Given the description of an element on the screen output the (x, y) to click on. 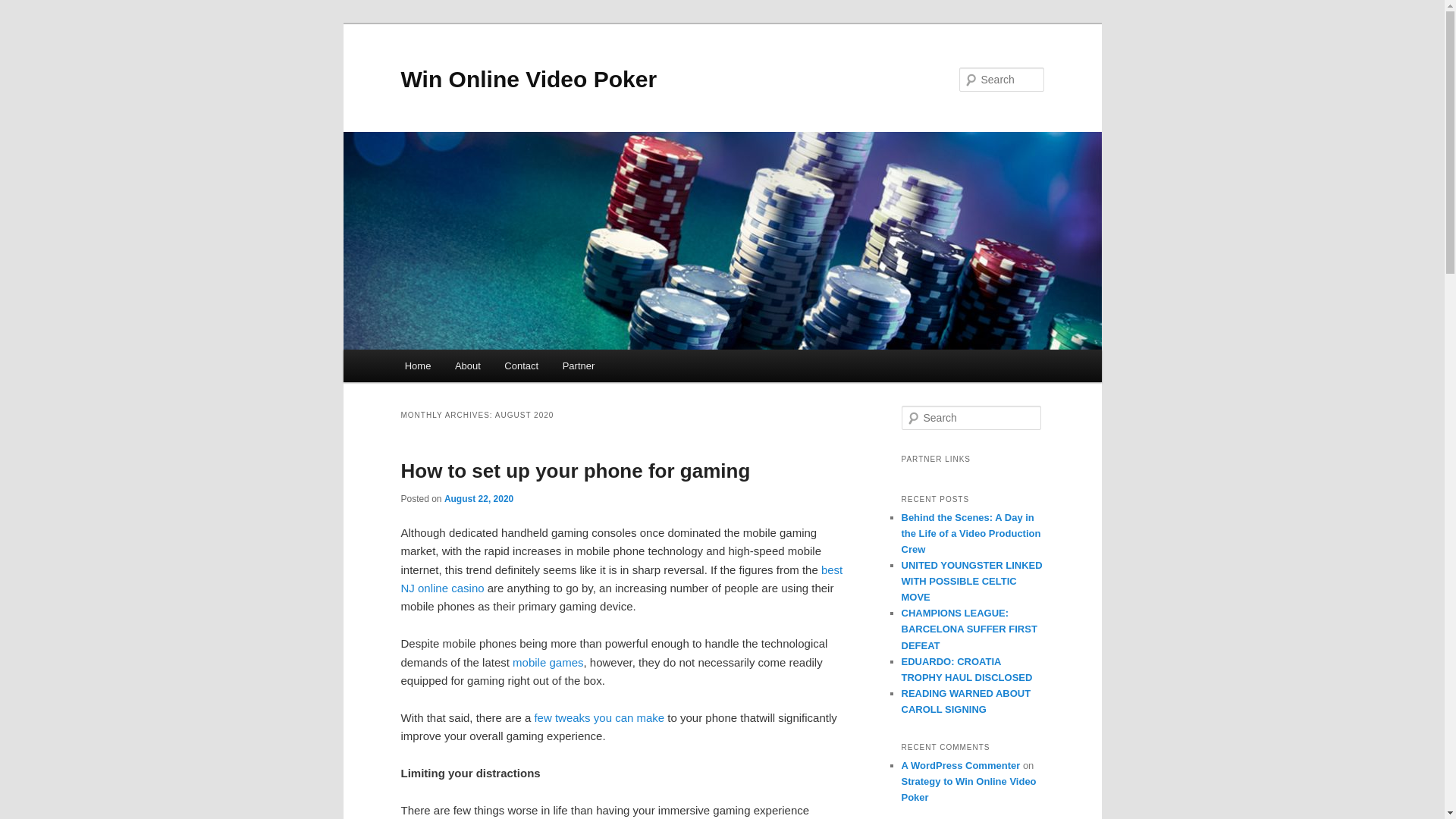
Search (21, 11)
Strategy to Win Online Video Poker (968, 789)
few tweaks you can make (598, 717)
READING WARNED ABOUT CAROLL SIGNING (965, 700)
August 22, 2020 (478, 498)
Win Online Video Poker (528, 78)
Home (417, 365)
mobile games (547, 662)
UNITED YOUNGSTER LINKED WITH POSSIBLE CELTIC MOVE (971, 580)
best NJ online casino (621, 578)
A WordPress Commenter (960, 765)
EDUARDO: CROATIA TROPHY HAUL DISCLOSED (966, 669)
About (467, 365)
Contact (521, 365)
